Given the description of an element on the screen output the (x, y) to click on. 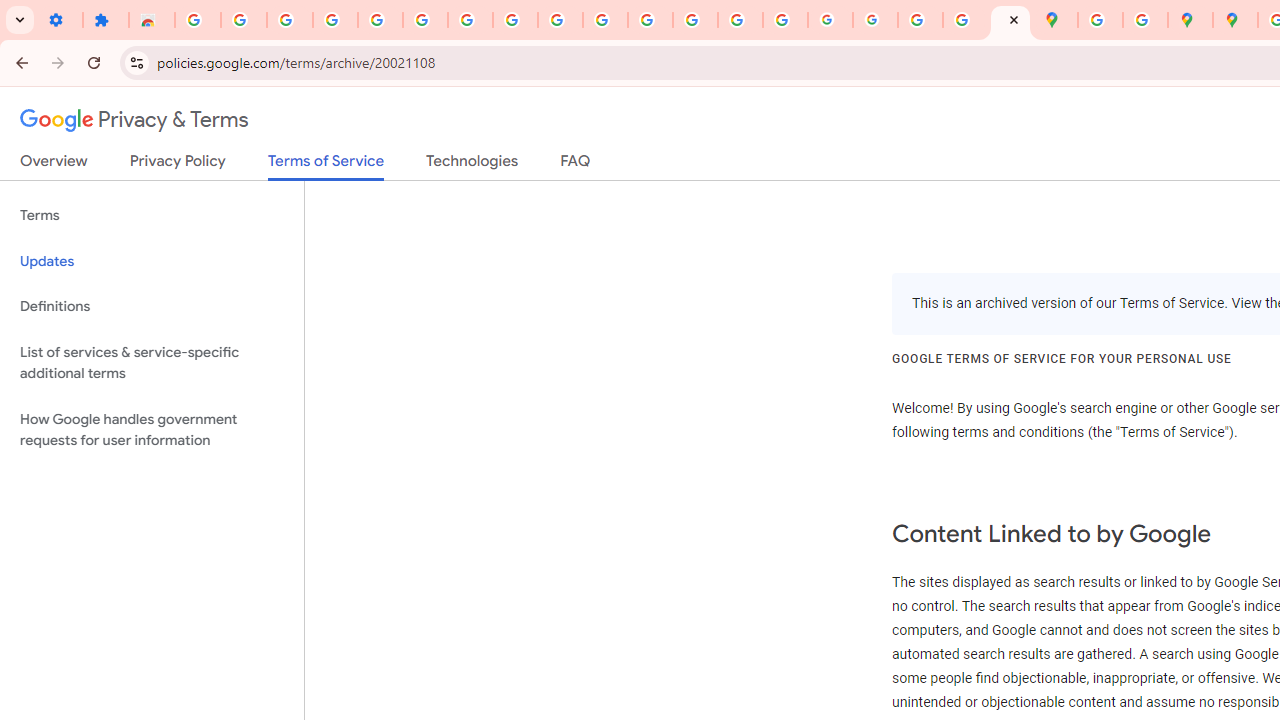
Safety in Our Products - Google Safety Center (1145, 20)
List of services & service-specific additional terms (152, 362)
Terms (152, 215)
How Google handles government requests for user information (152, 429)
Reviews: Helix Fruit Jump Arcade Game (152, 20)
Google Maps (1055, 20)
https://scholar.google.com/ (650, 20)
Definitions (152, 306)
Sign in - Google Accounts (198, 20)
